Given the description of an element on the screen output the (x, y) to click on. 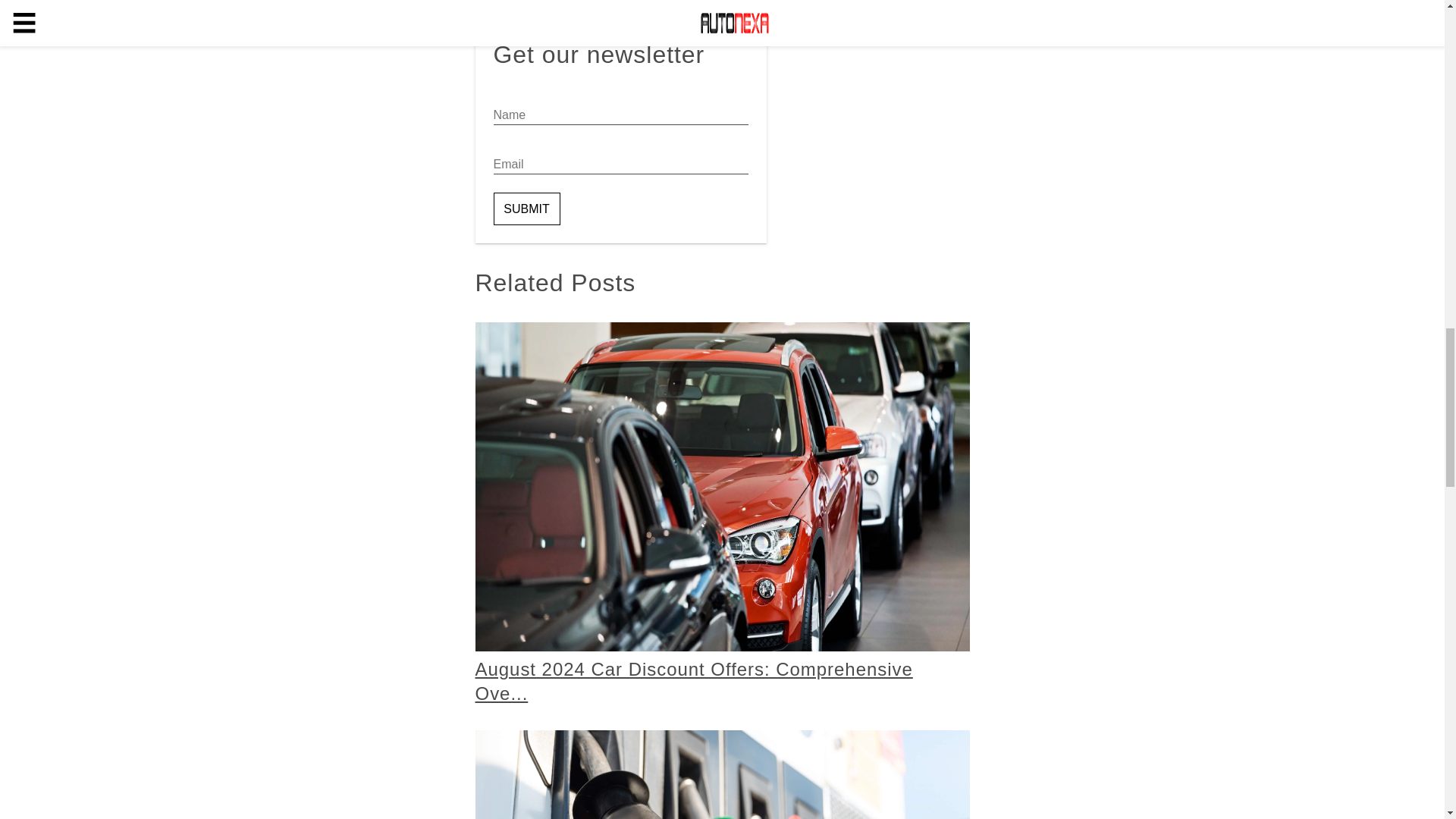
3rd party ad content (619, 19)
SUBMIT (526, 208)
The Pros and Cons of Different Fuel Types: Petrol,... (721, 774)
SUBMIT (526, 208)
